Given the description of an element on the screen output the (x, y) to click on. 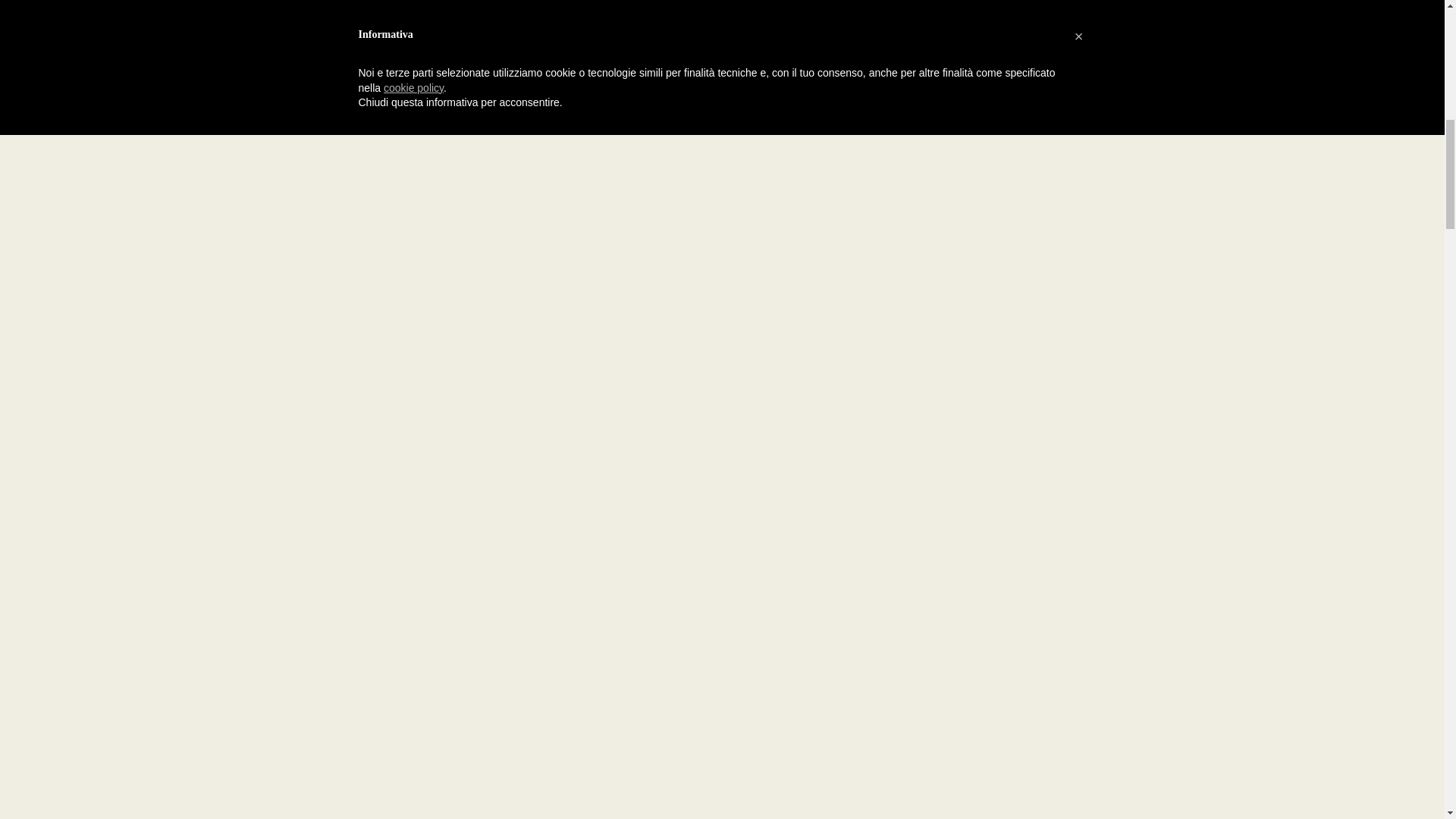
CHECK RATES (288, 446)
